Given the description of an element on the screen output the (x, y) to click on. 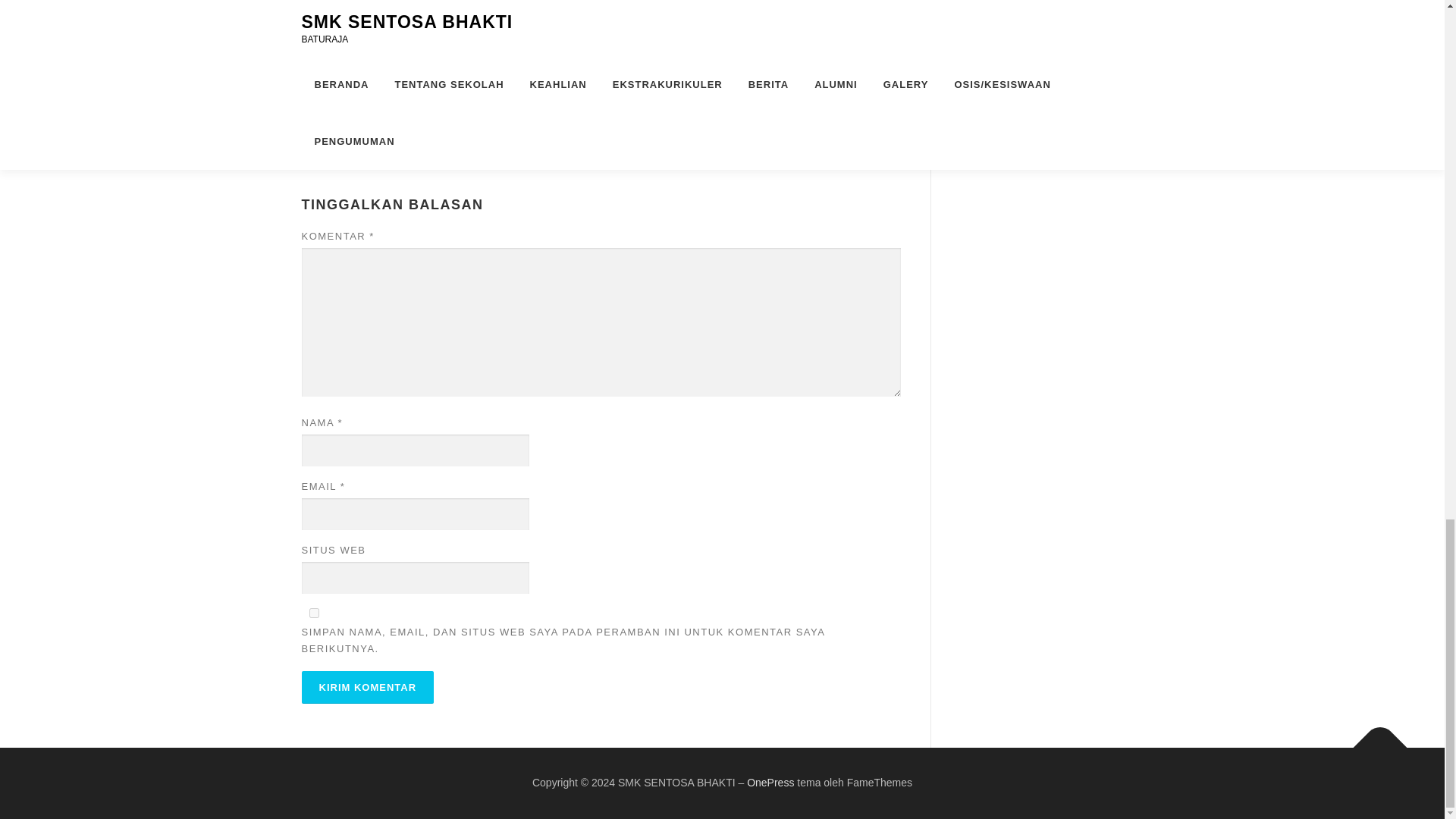
yes (313, 613)
Kembali ke Atas (1372, 740)
Kirim Komentar (367, 686)
